Given the description of an element on the screen output the (x, y) to click on. 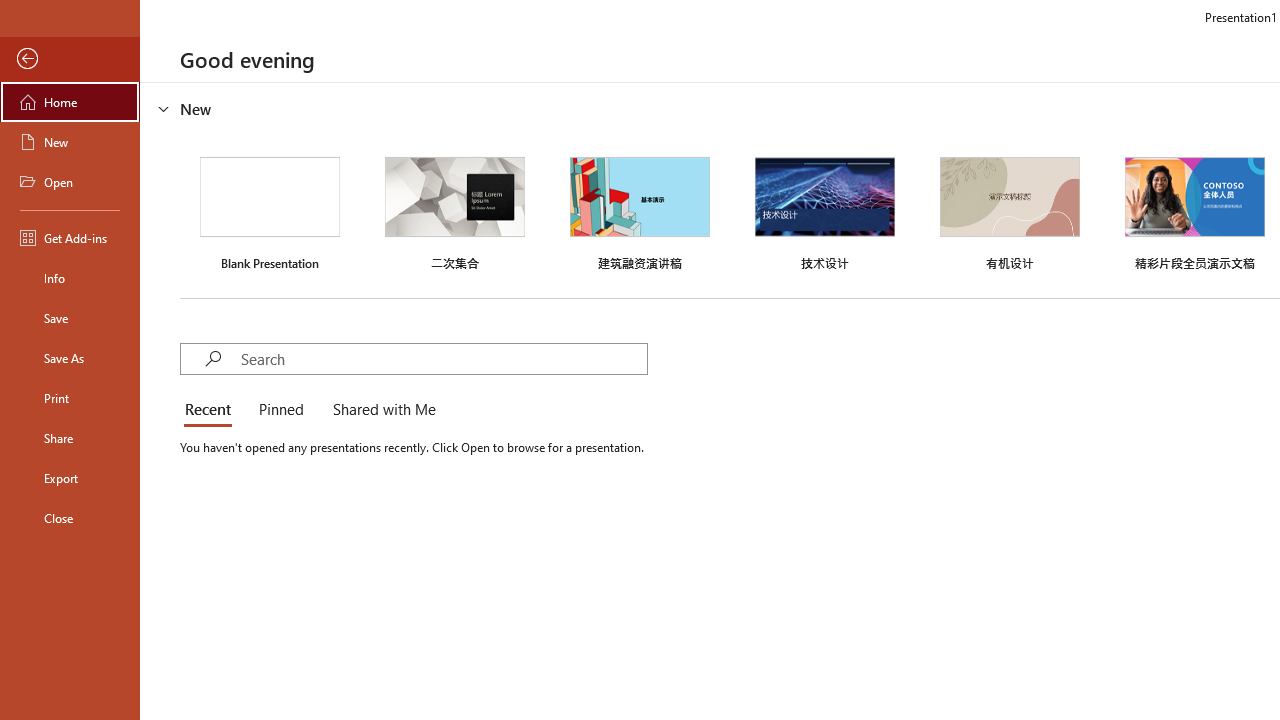
Save As (69, 357)
Hide or show region (164, 108)
Get Add-ins (69, 237)
Info (69, 277)
Recent (212, 410)
Export (69, 477)
